Given the description of an element on the screen output the (x, y) to click on. 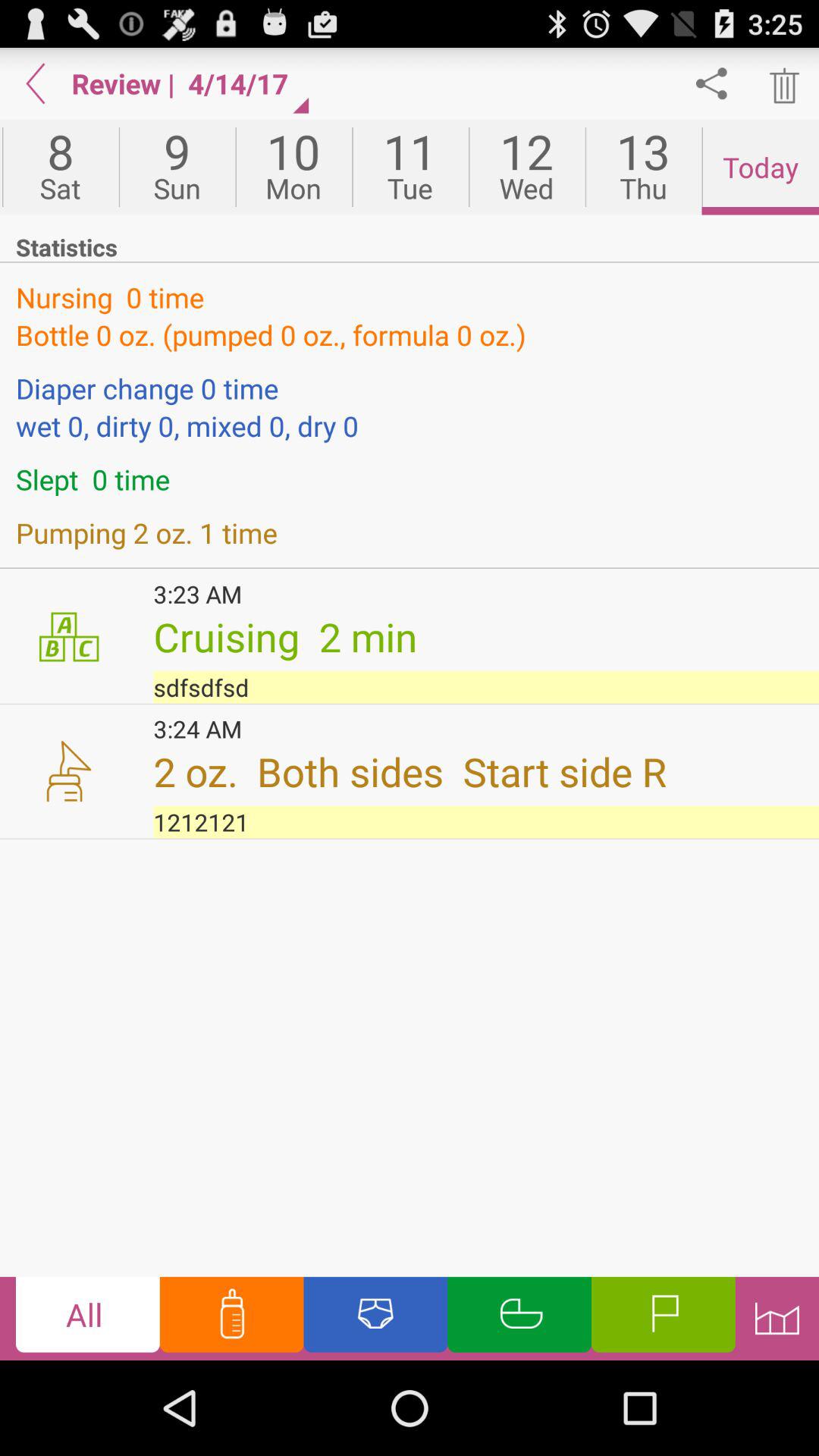
choose the icon below the 4/14/17 (293, 166)
